Given the description of an element on the screen output the (x, y) to click on. 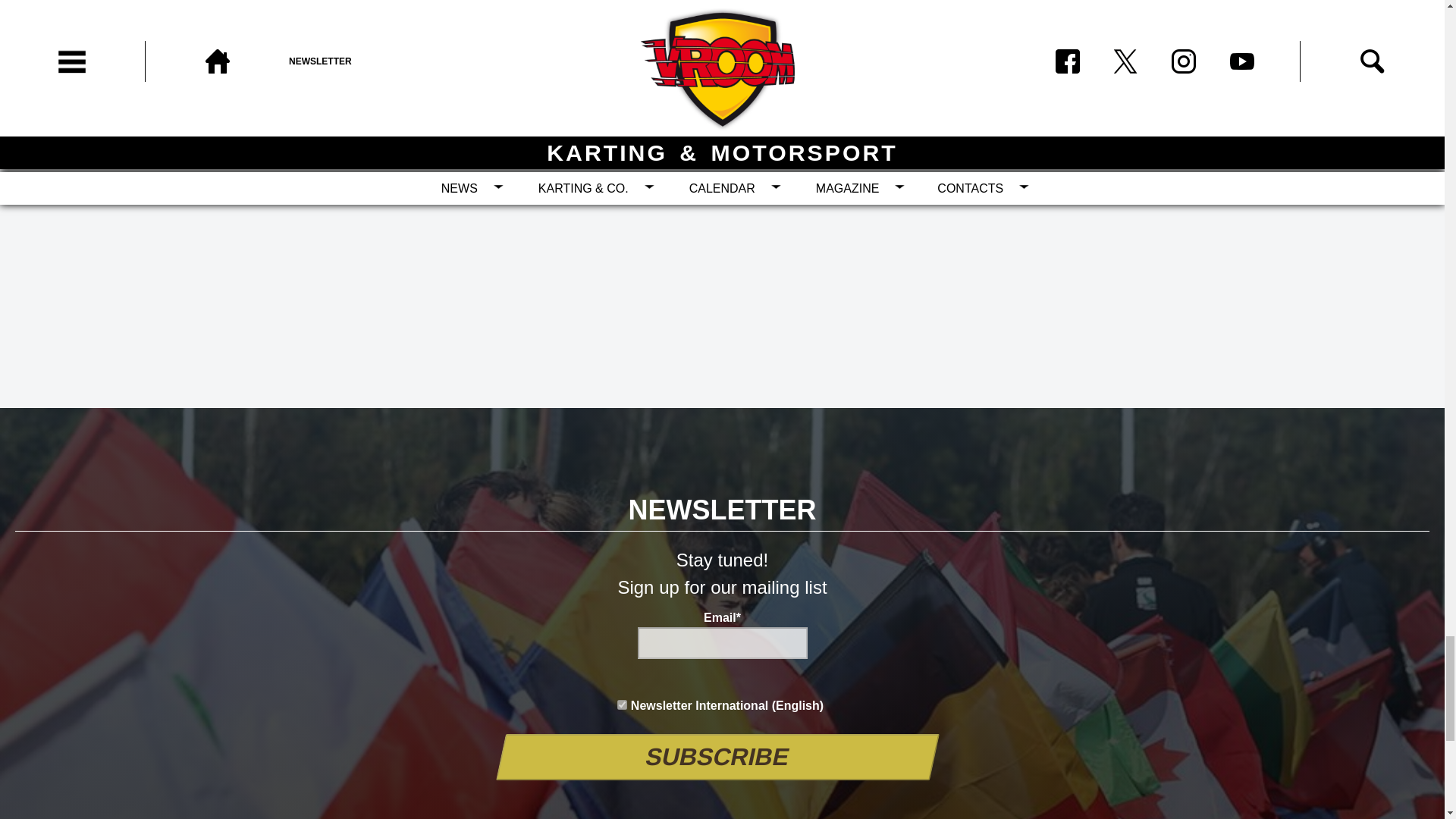
Subscribe (713, 756)
2 (622, 705)
